Given the description of an element on the screen output the (x, y) to click on. 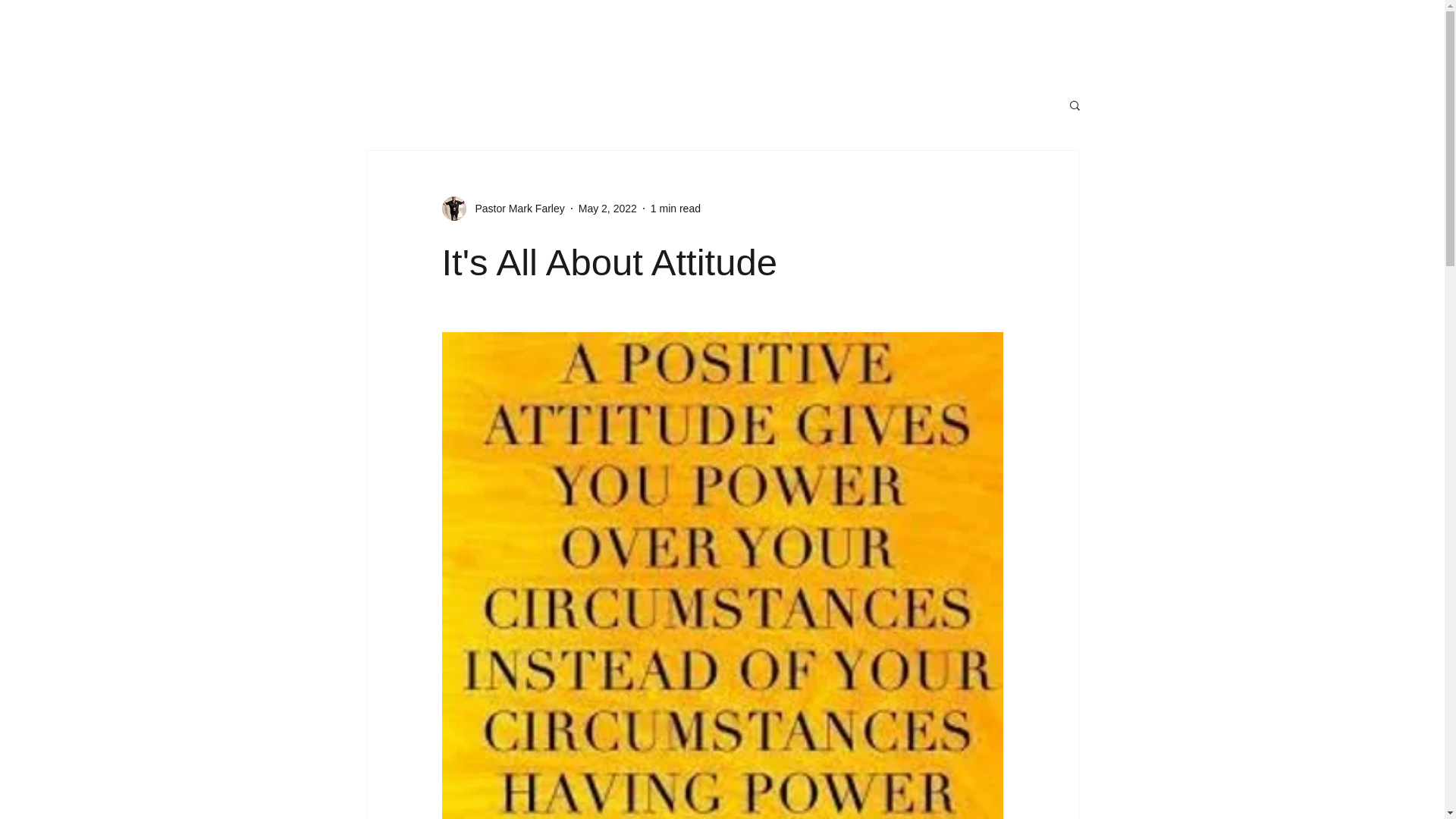
May 2, 2022 (607, 207)
Pastor Mark Farley (514, 207)
1 min read (675, 207)
